Given the description of an element on the screen output the (x, y) to click on. 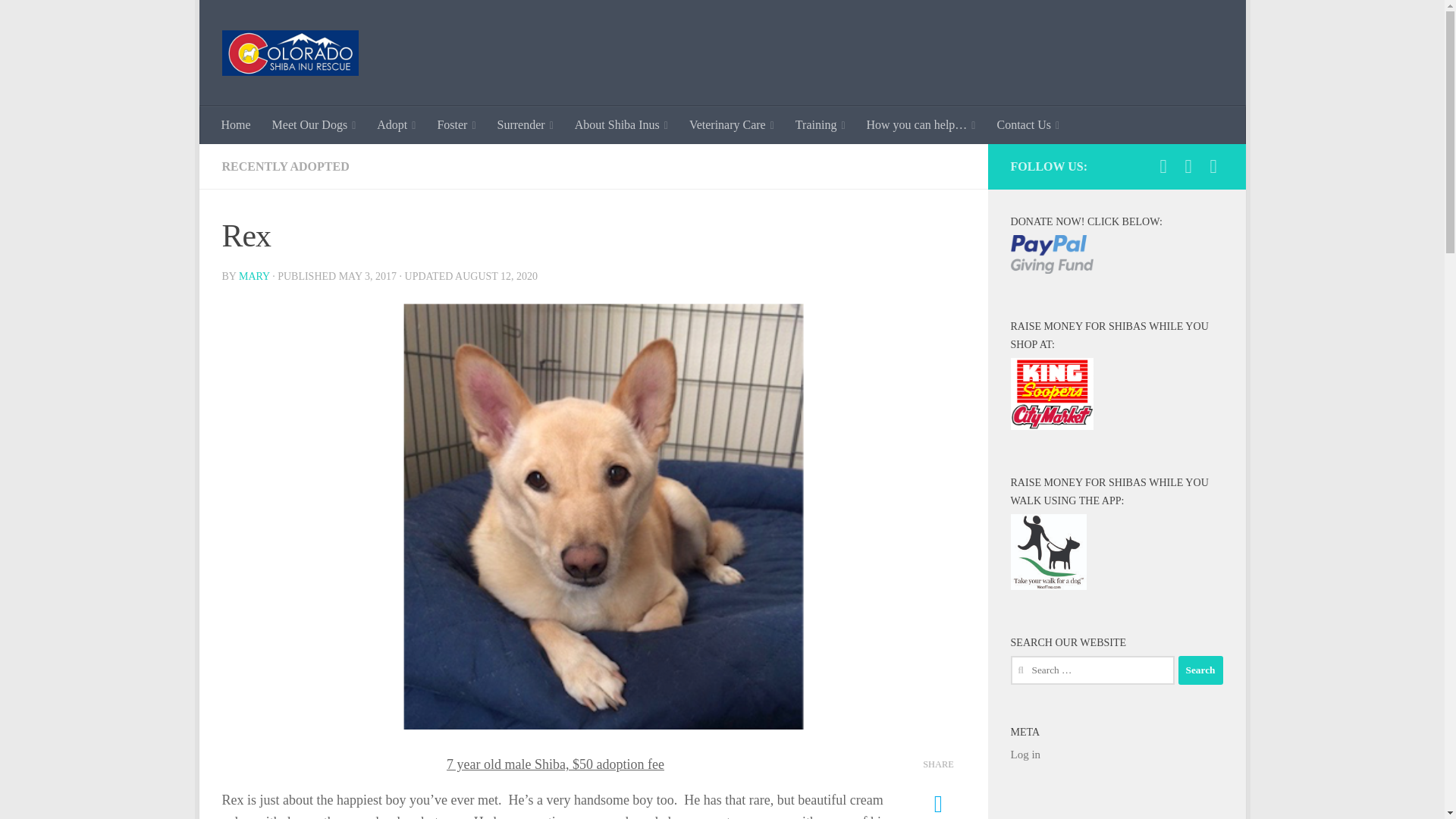
Follow us on Facebook (1163, 166)
Search (1200, 670)
DONATE NOW! Click below: (1051, 254)
Search (1200, 670)
Posts by Mary (253, 276)
Follow us on Instagram (1186, 166)
Raise money for Shibas while you shop at: (1051, 393)
Follow us on Twitter (1213, 166)
Skip to content (258, 20)
Raise money for Shibas while you walk using the app: (1048, 551)
